Given the description of an element on the screen output the (x, y) to click on. 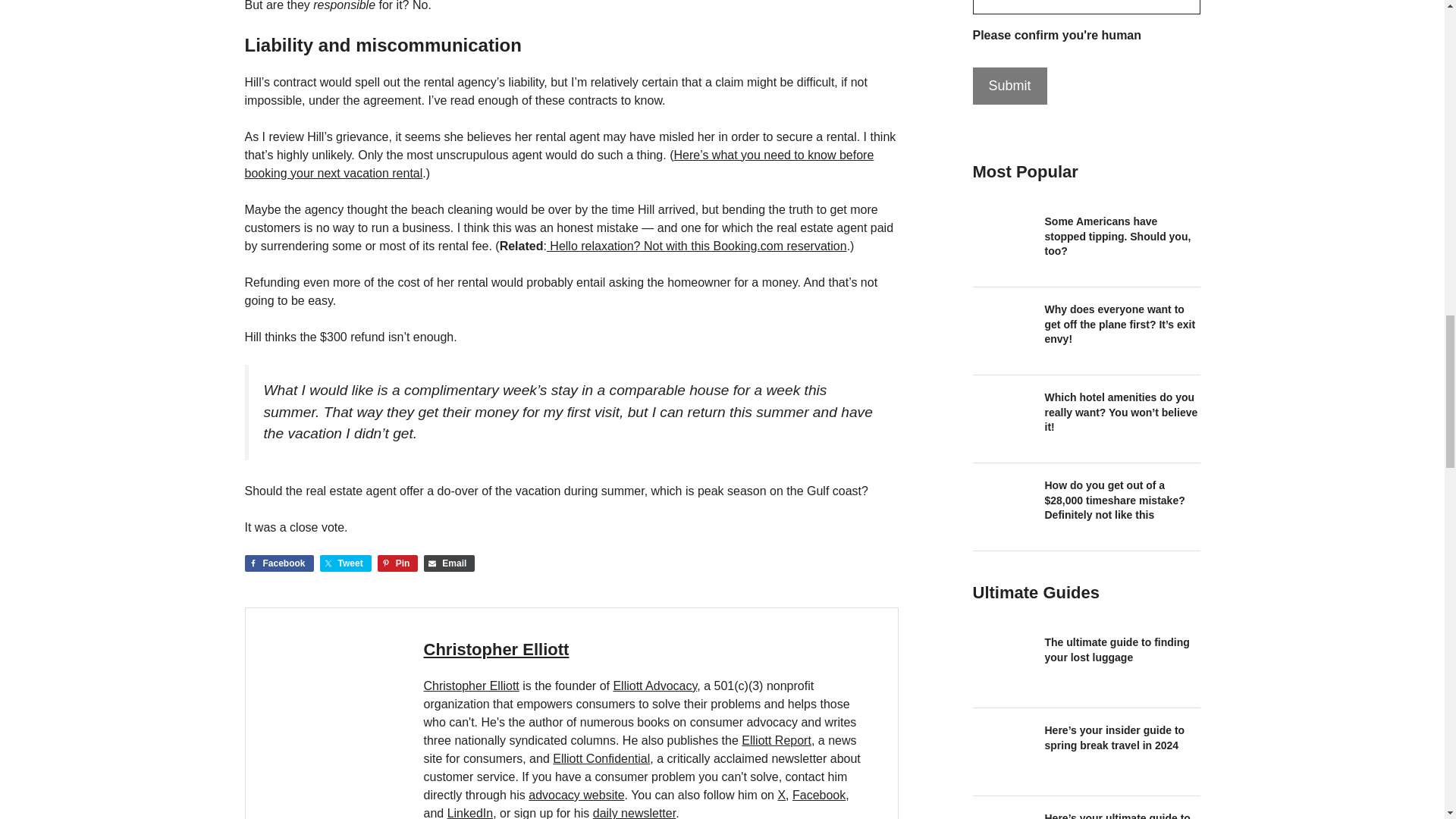
Submit (1009, 85)
Share via Email (448, 563)
Share on Facebook (278, 563)
Share on Pinterest (398, 563)
Share on Twitter (345, 563)
Email (448, 563)
